Given the description of an element on the screen output the (x, y) to click on. 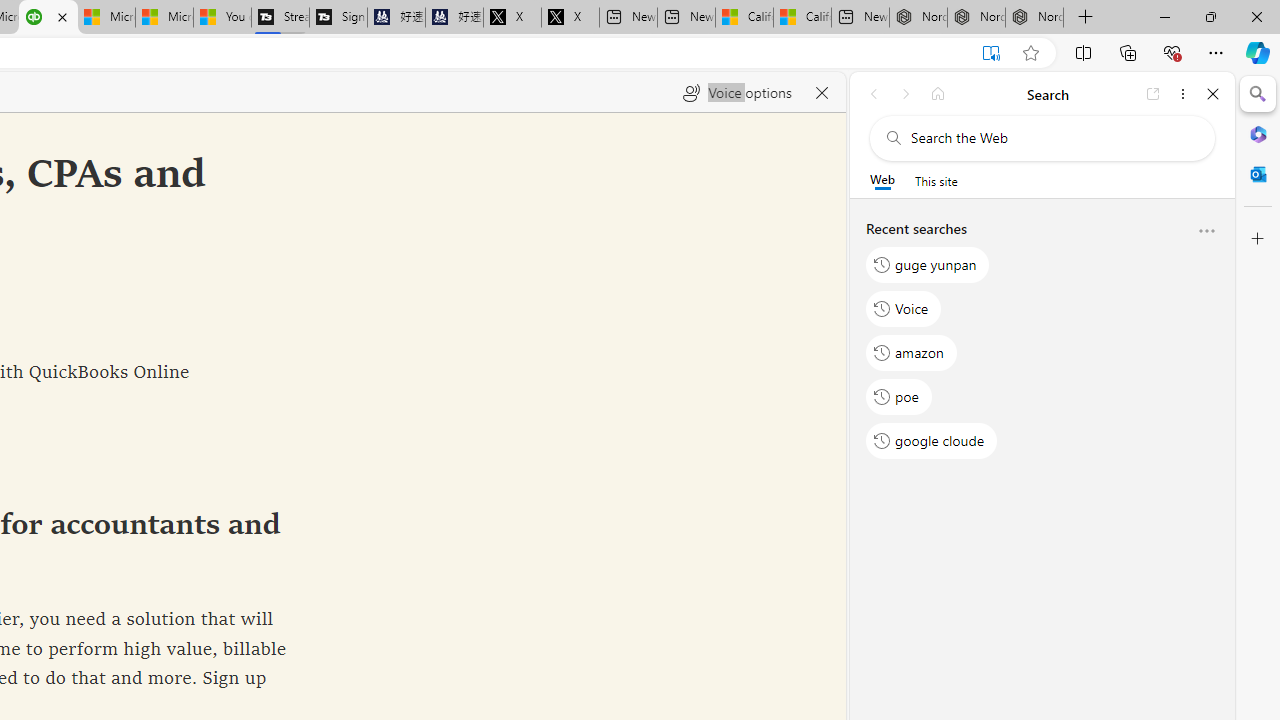
Voice (904, 308)
Exit Immersive Reader (F9) (991, 53)
Web scope (882, 180)
Close read aloud (821, 92)
Open link in new tab (1153, 93)
Voice options (737, 92)
